Given the description of an element on the screen output the (x, y) to click on. 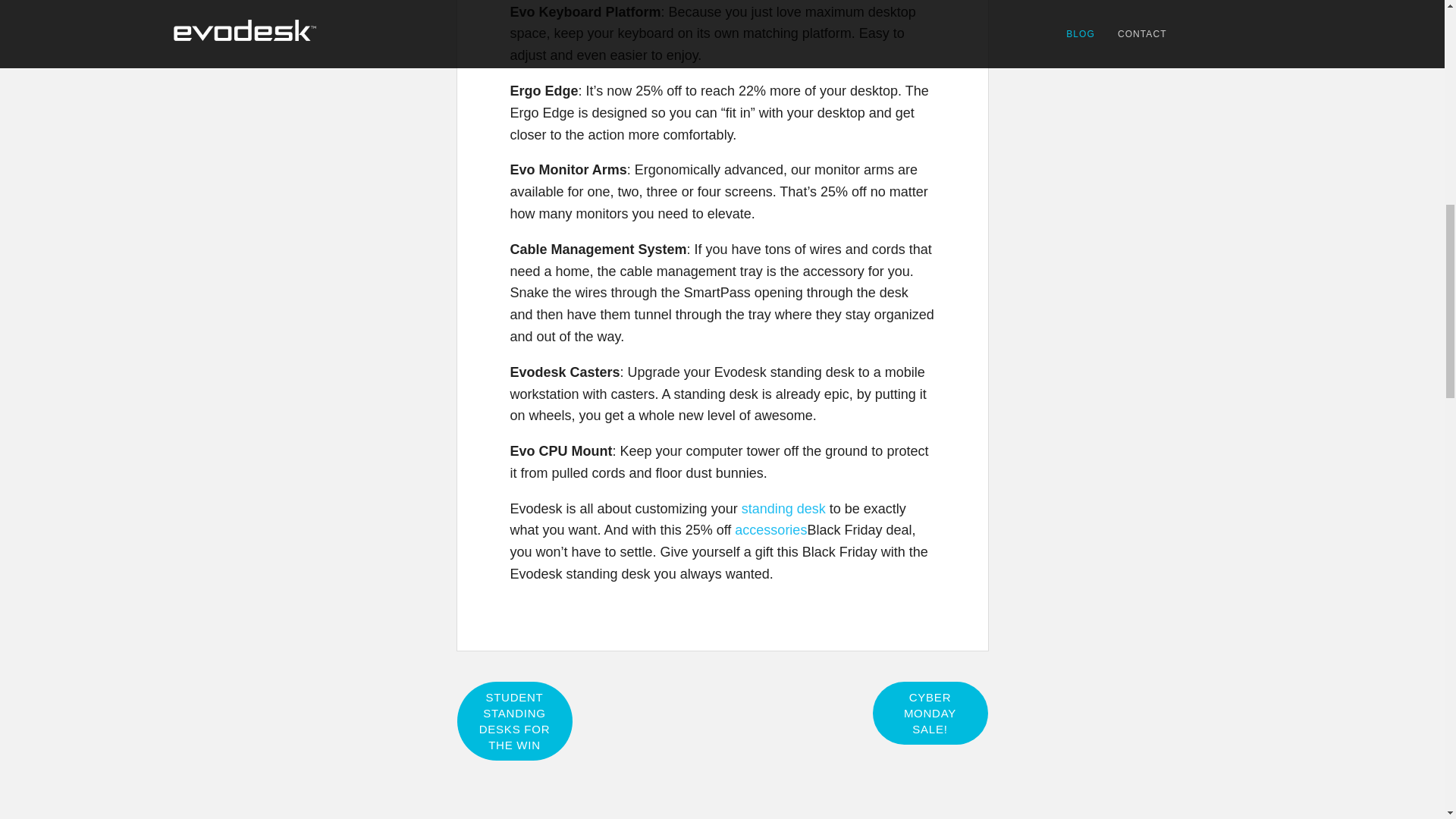
STUDENT STANDING DESKS FOR THE WIN (514, 720)
CYBER MONDAY SALE! (929, 712)
standing desk (783, 508)
accessories (770, 530)
